Given the description of an element on the screen output the (x, y) to click on. 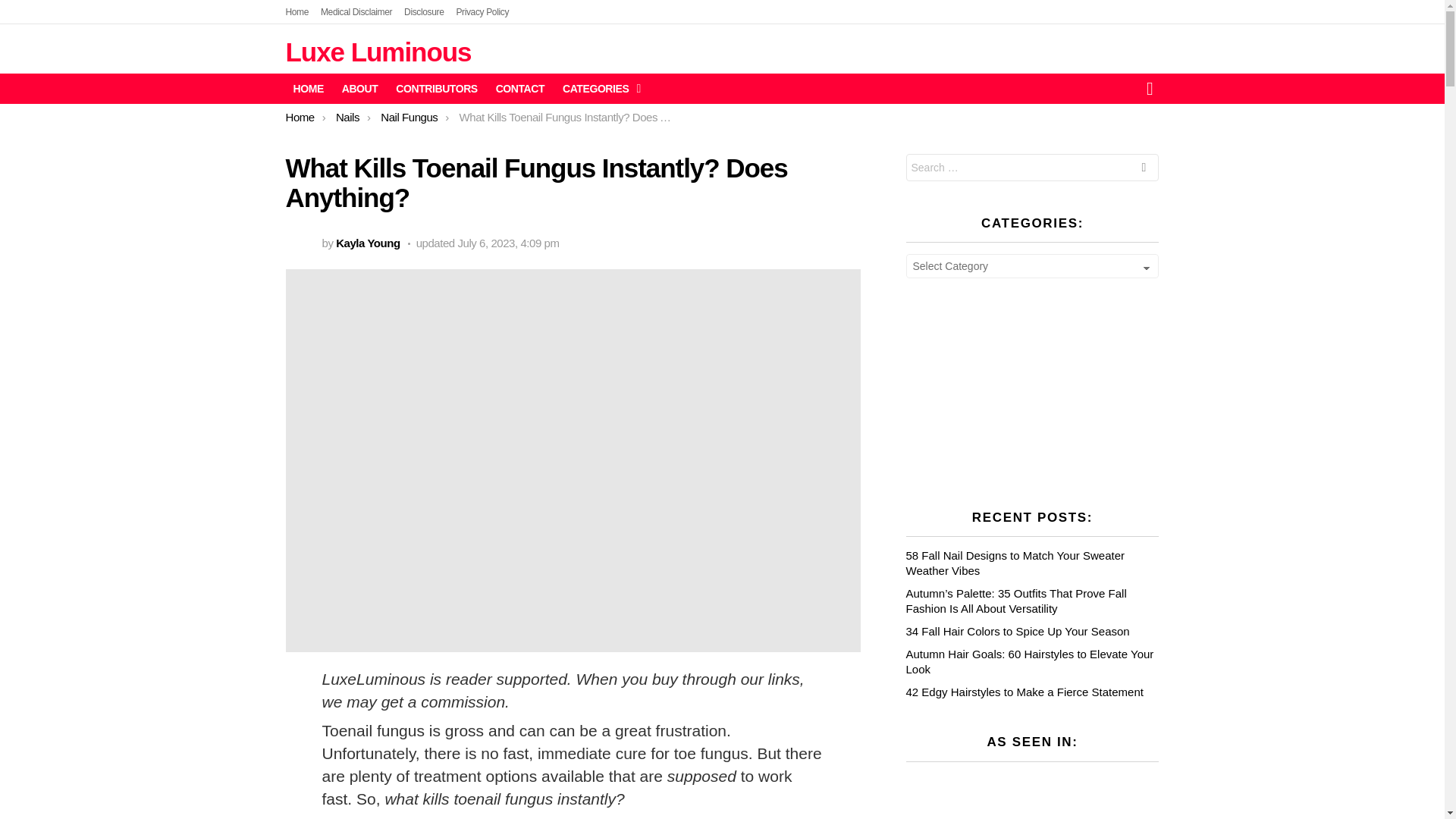
CONTRIBUTORS (436, 87)
Posts by Kayla Young (368, 242)
CATEGORIES (597, 87)
Search for: (1031, 166)
CONTACT (519, 87)
Disclosure (424, 12)
Home (296, 12)
Luxe Luminous (377, 51)
Privacy Policy (481, 12)
HOME (307, 87)
